Given the description of an element on the screen output the (x, y) to click on. 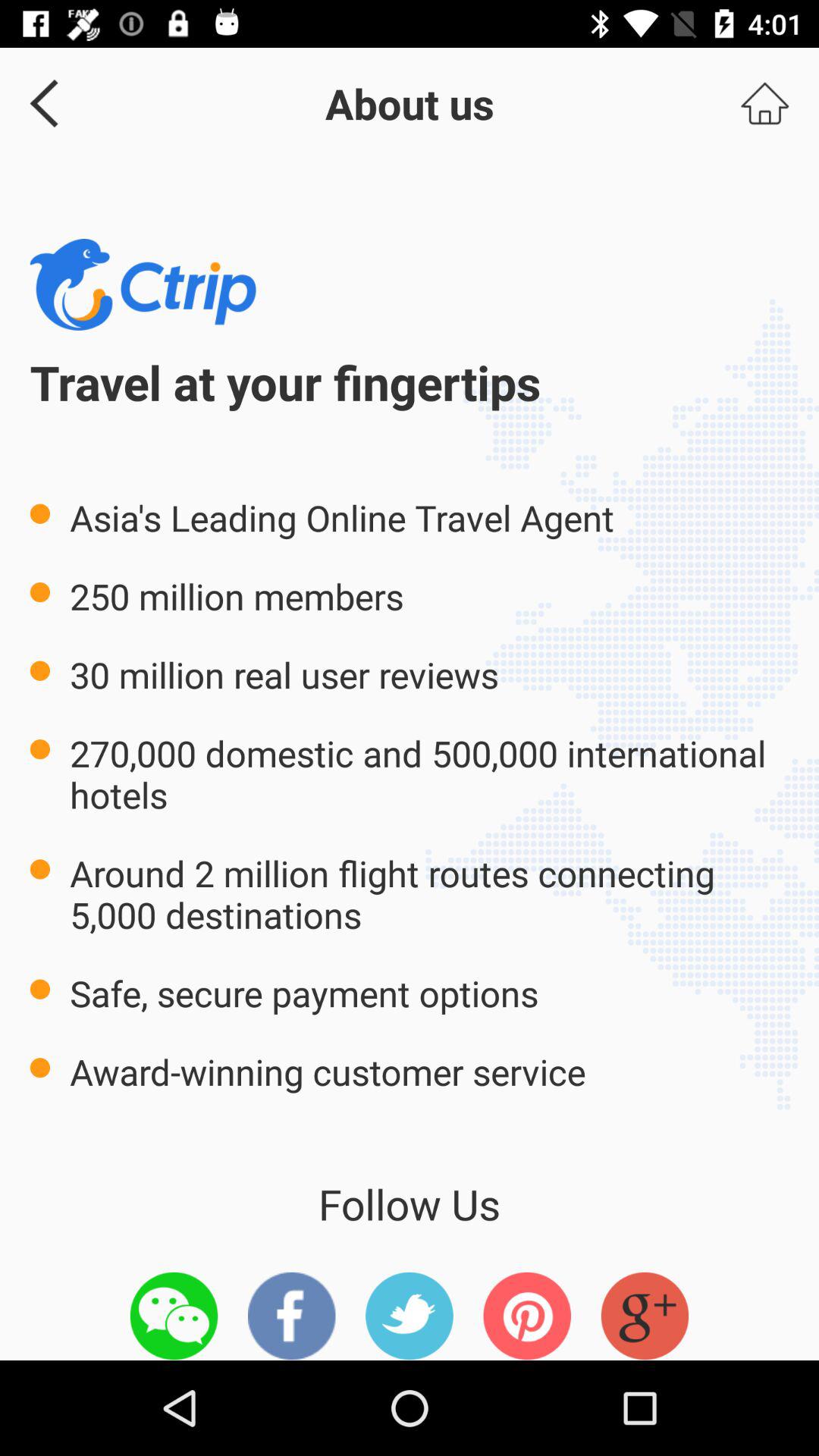
pinterest option (527, 1315)
